Given the description of an element on the screen output the (x, y) to click on. 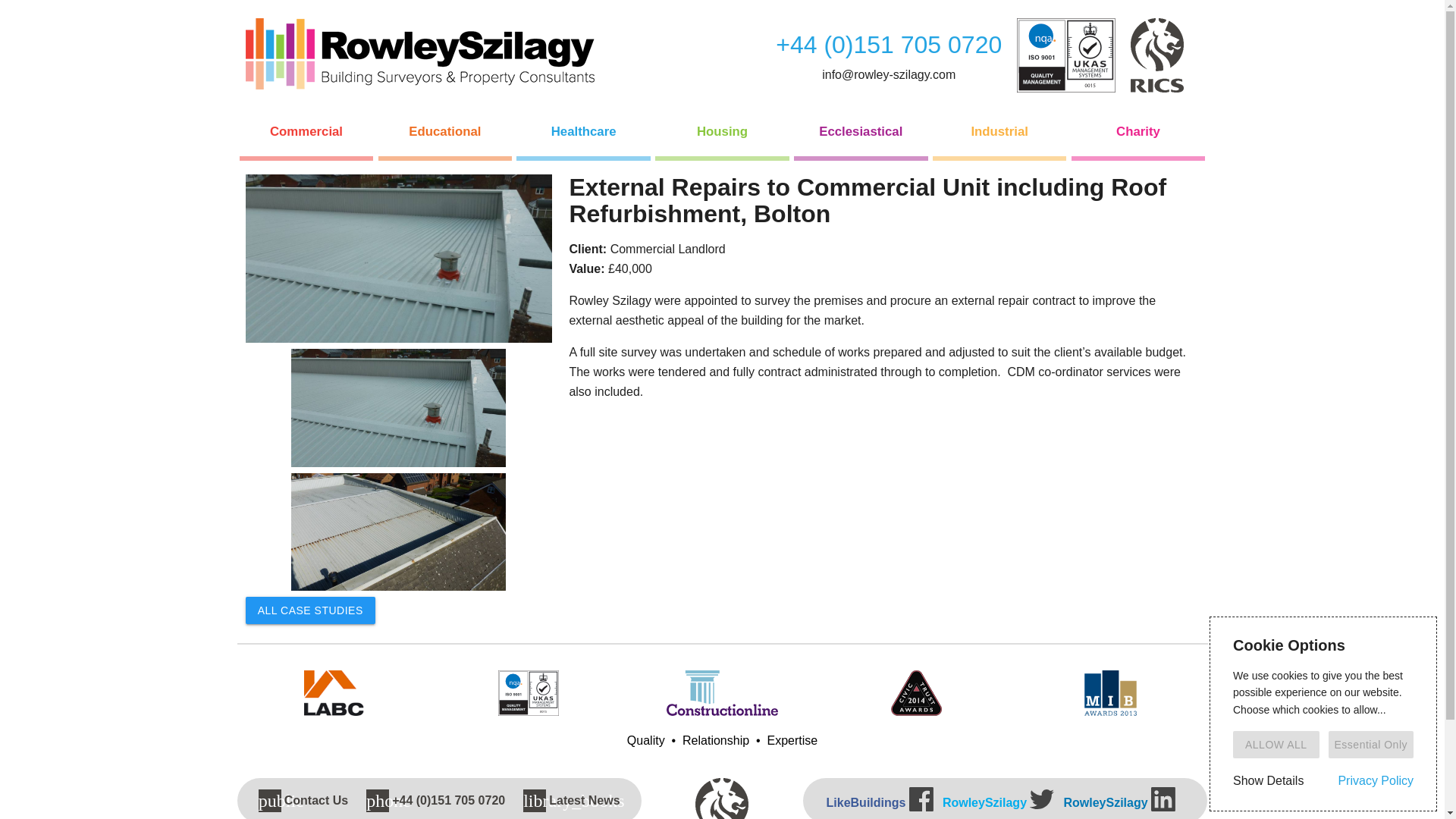
Charity (1138, 131)
ALLOW ALL (1276, 744)
Facebook (920, 799)
RowleySzilagy (1118, 802)
ALL CASE STUDIES (310, 610)
Industrial (999, 131)
LikeBuildings (880, 802)
Housing (722, 131)
Commercial (306, 131)
RowleySzilagy (998, 802)
